Given the description of an element on the screen output the (x, y) to click on. 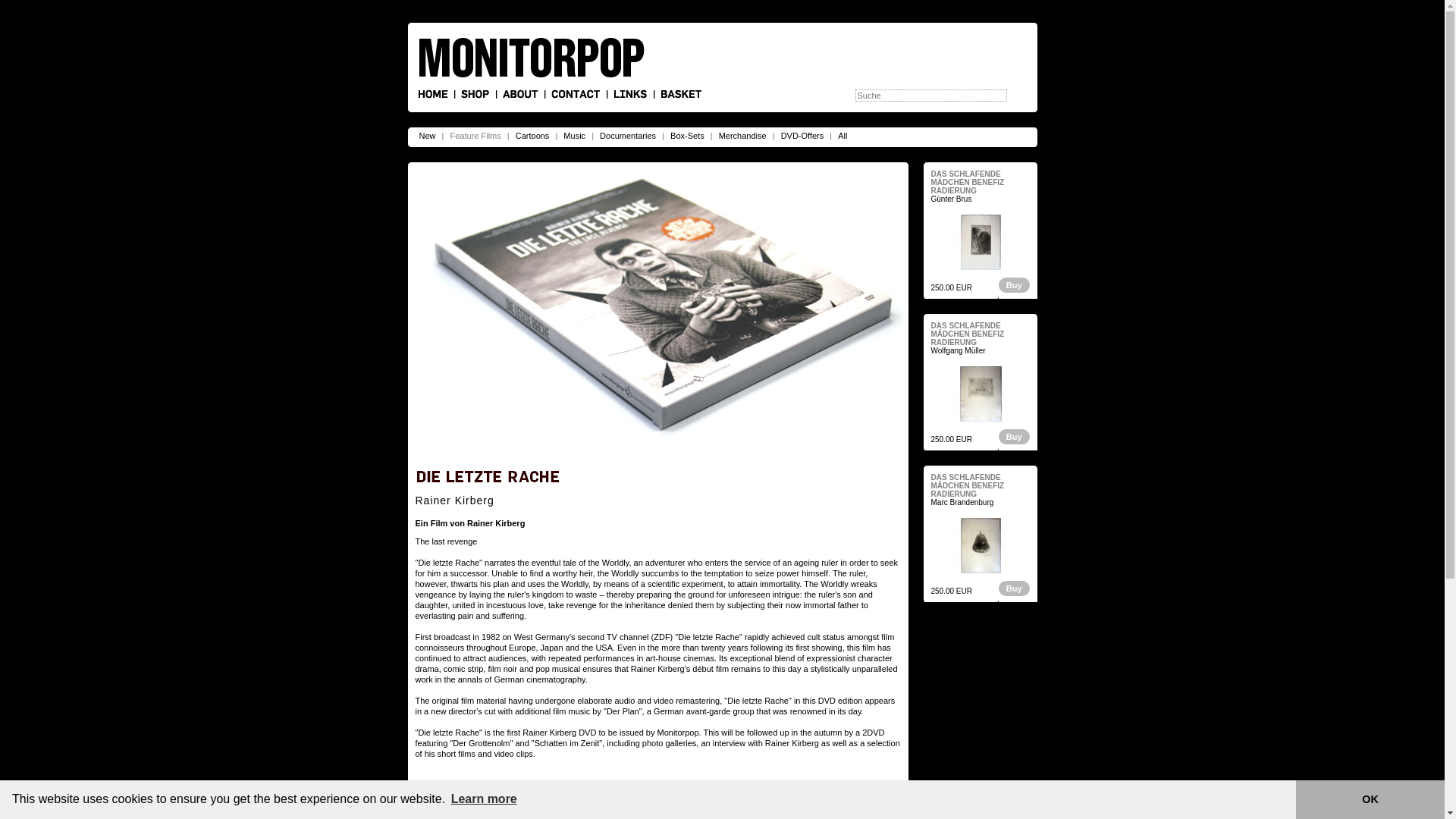
Box-Sets (686, 135)
Buy (885, 788)
Learn more (483, 798)
Merchandise (742, 135)
Documentaries (627, 135)
New (426, 135)
Music (574, 135)
Cartoons (532, 135)
Buy (1014, 284)
Buy (1014, 587)
